Given the description of an element on the screen output the (x, y) to click on. 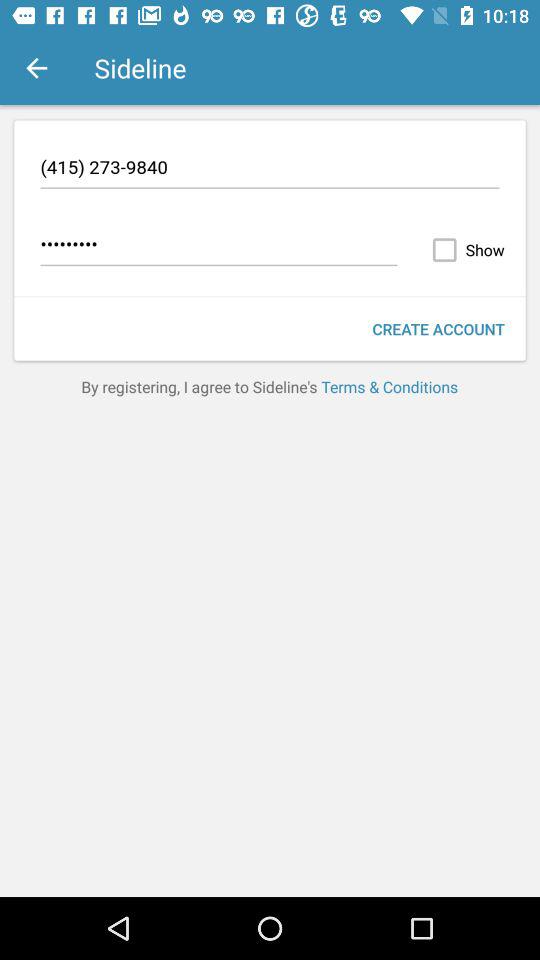
select icon at the center (269, 386)
